Given the description of an element on the screen output the (x, y) to click on. 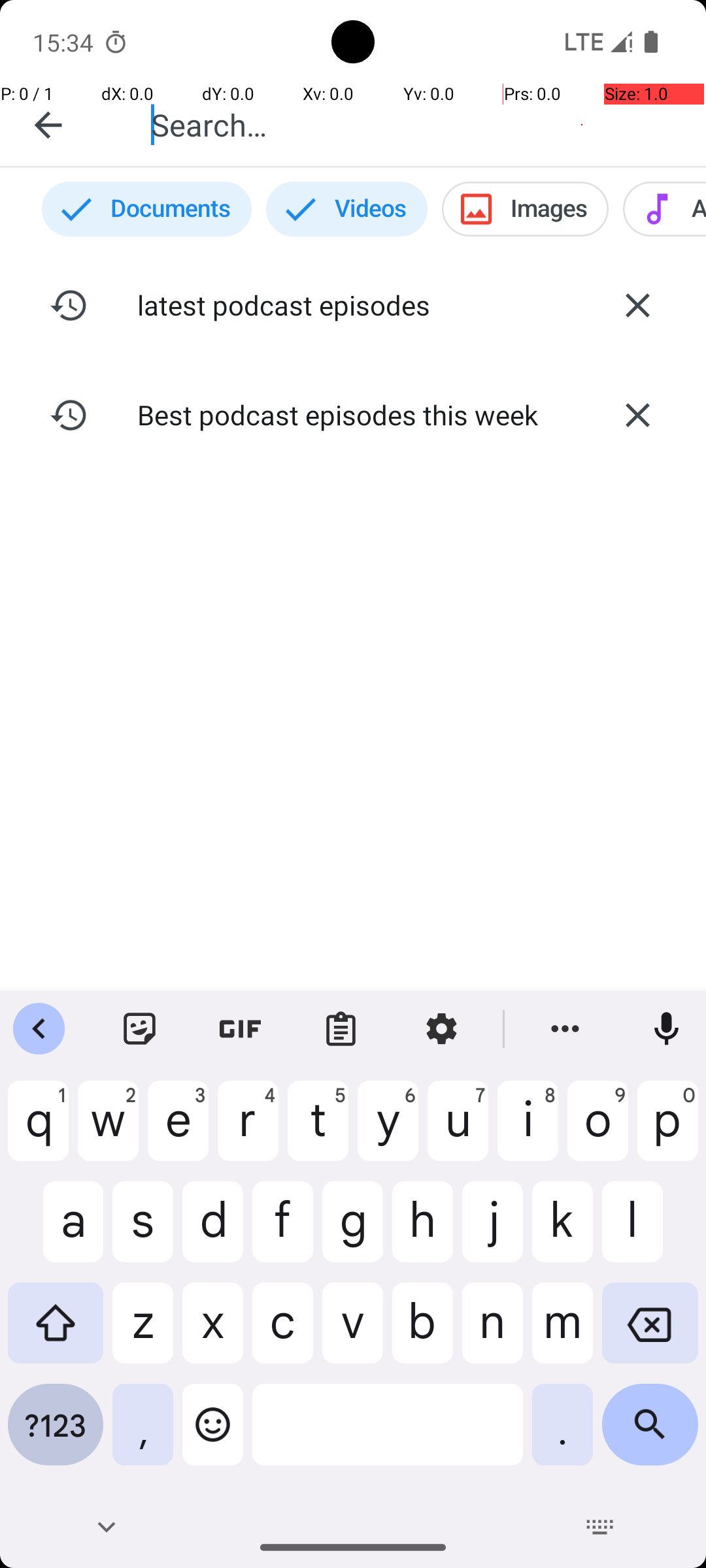
latest podcast episodes Element type: android.widget.TextView (352, 304)
Delete search history latest podcast episodes Element type: android.widget.ImageView (637, 304)
Best podcast episodes this week Element type: android.widget.TextView (352, 414)
Delete search history Best podcast episodes this week Element type: android.widget.ImageView (637, 414)
